Given the description of an element on the screen output the (x, y) to click on. 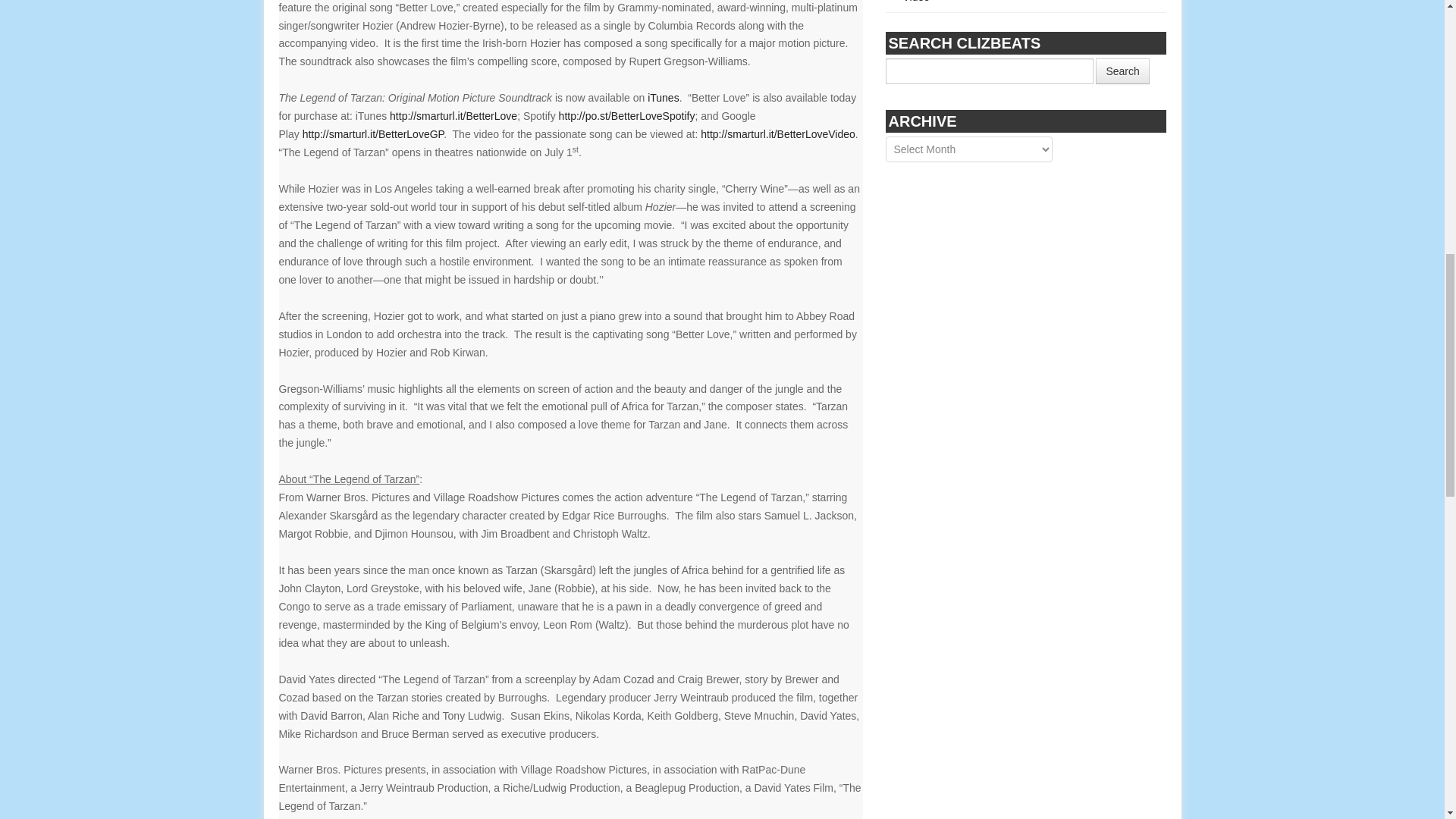
Search (1122, 71)
iTunes (663, 97)
